Given the description of an element on the screen output the (x, y) to click on. 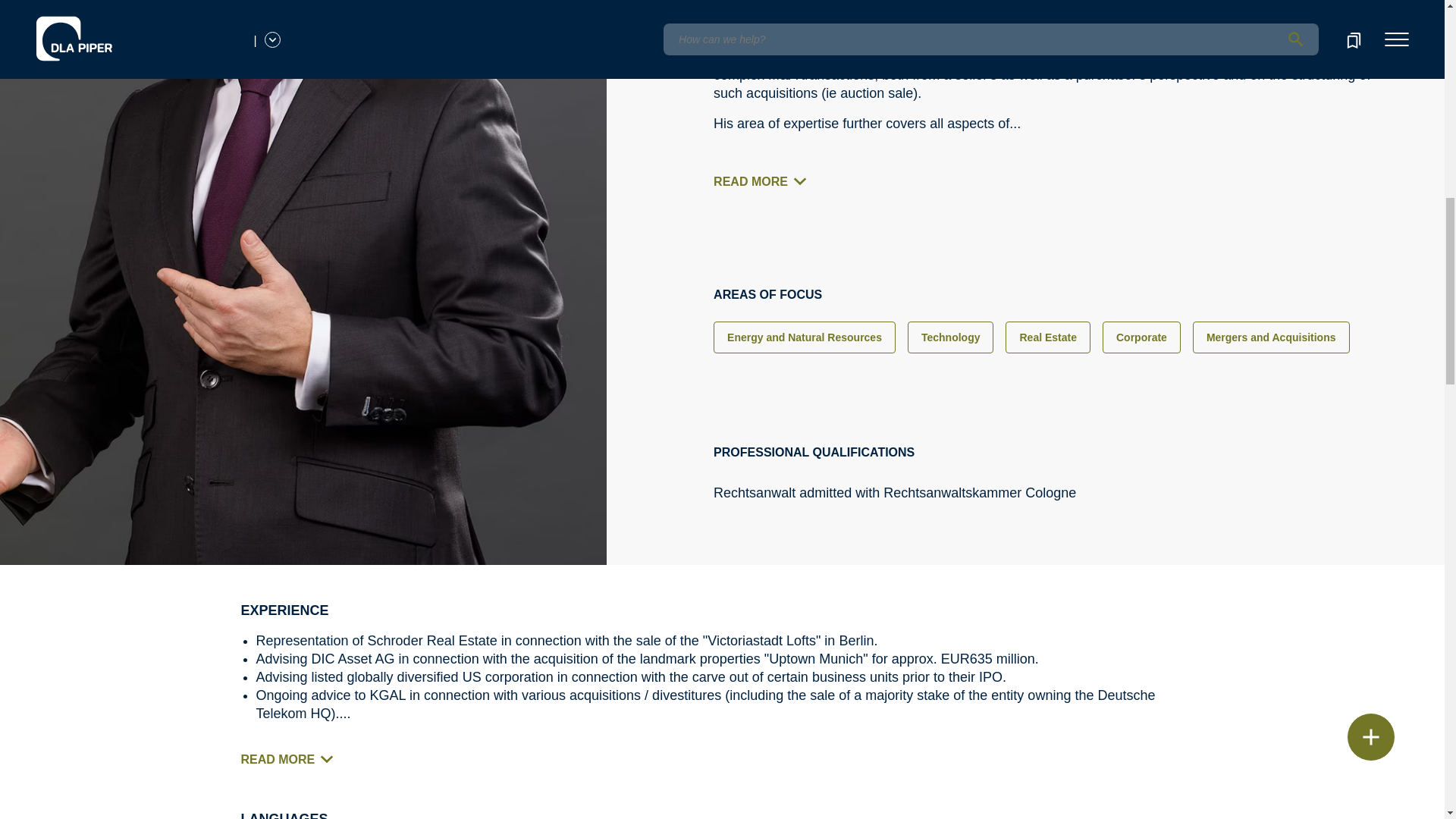
Real Estate (1047, 336)
Corporate (1141, 336)
Mergers and Acquisitions (1270, 336)
Technology (950, 336)
Energy and Natural Resources (804, 336)
READ MORE (764, 182)
